Given the description of an element on the screen output the (x, y) to click on. 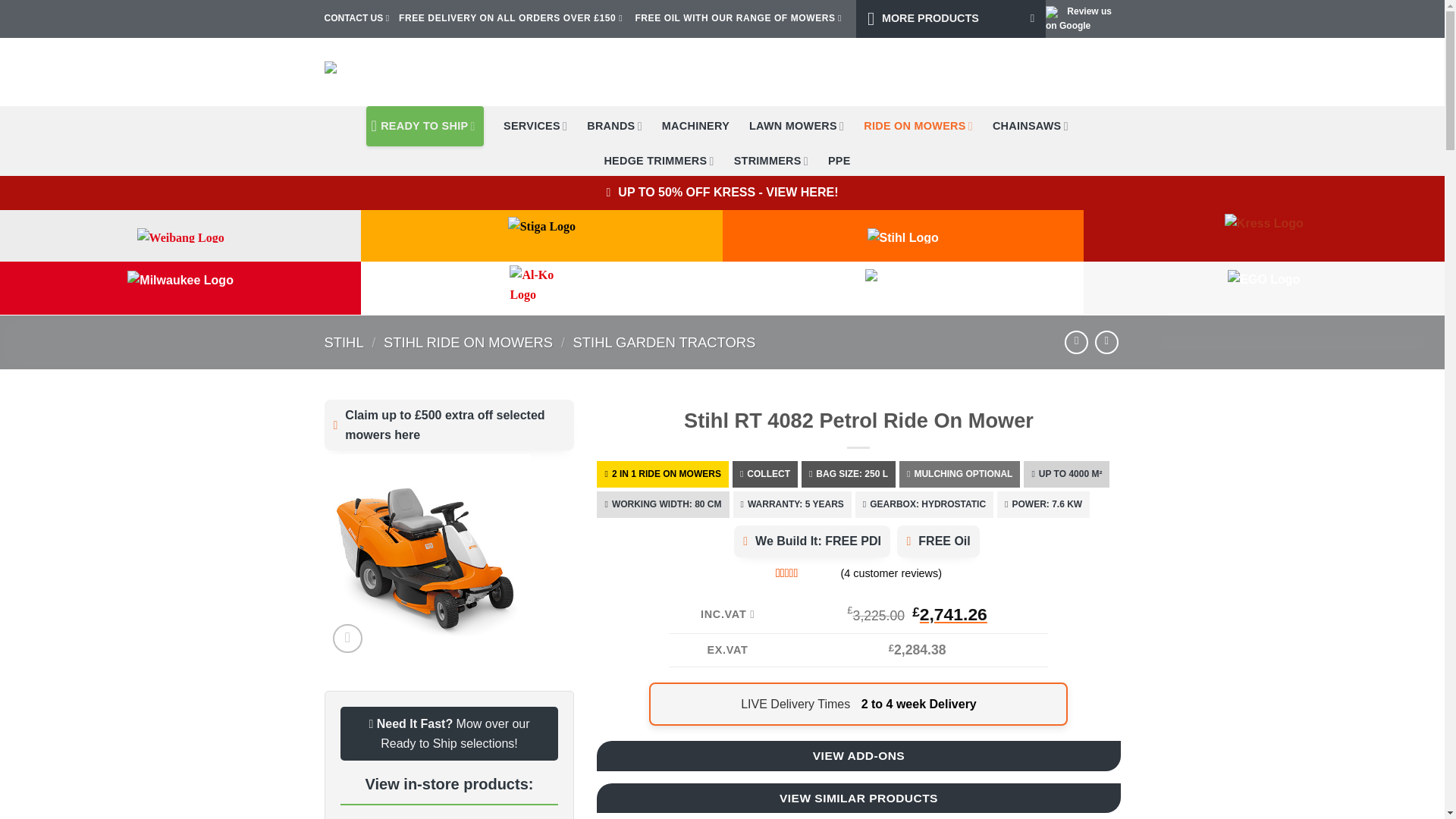
CONTACT US (354, 18)
Zoom (347, 638)
Login (1037, 71)
Contact Mowers2Go Team (354, 18)
Basket (1097, 71)
